Given the description of an element on the screen output the (x, y) to click on. 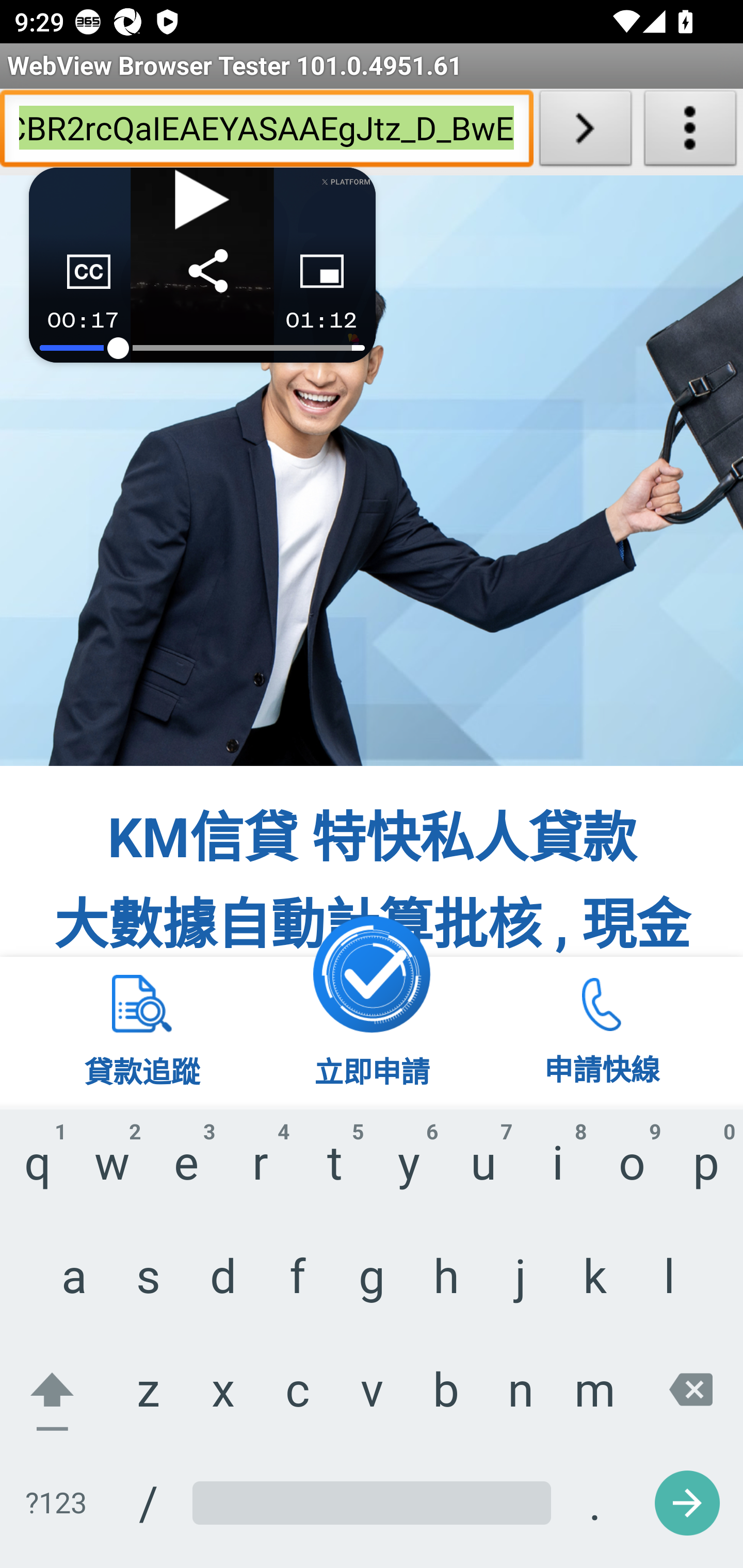
Load URL (585, 132)
About WebView (690, 132)
